Given the description of an element on the screen output the (x, y) to click on. 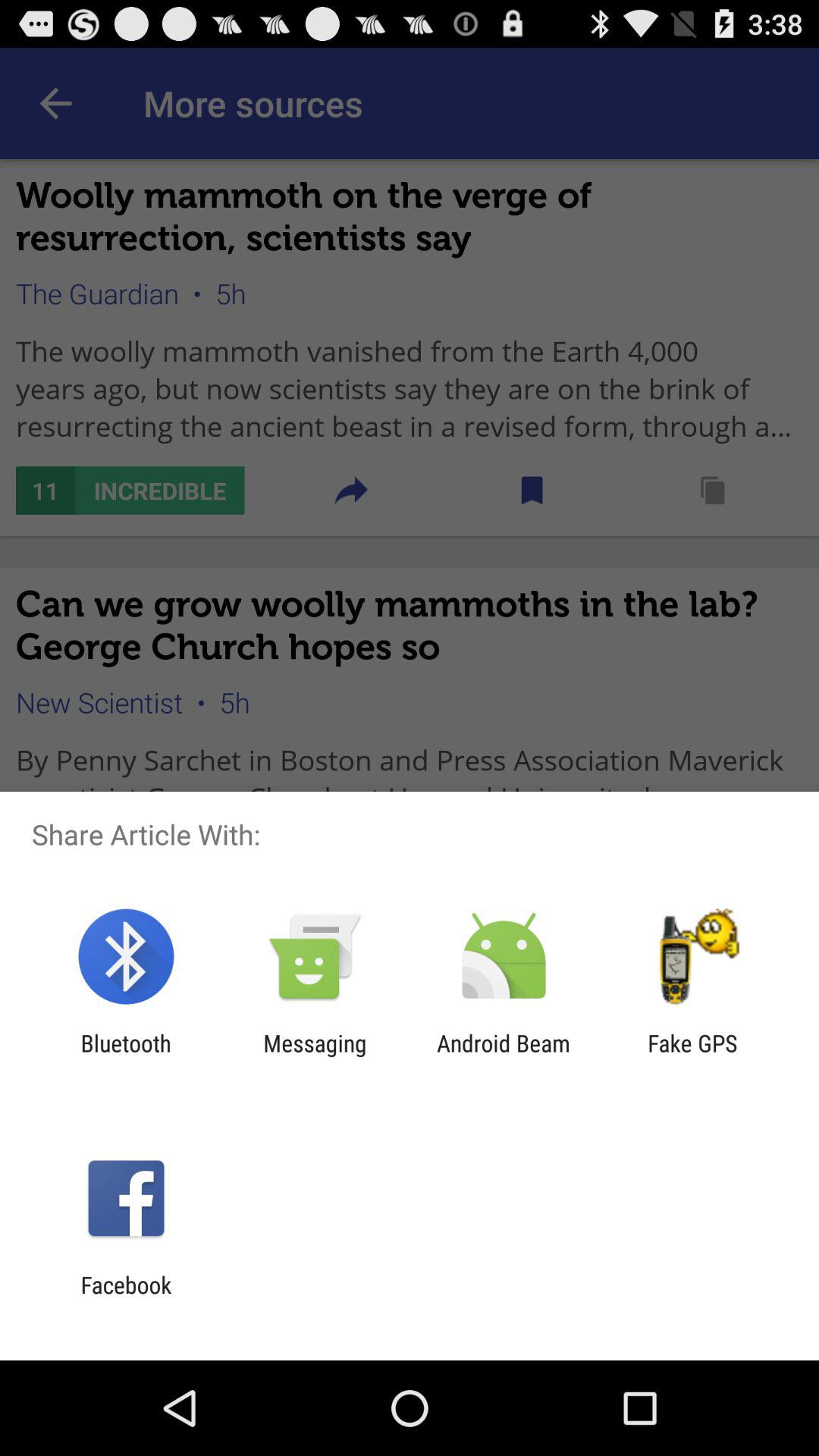
scroll until messaging (314, 1056)
